Given the description of an element on the screen output the (x, y) to click on. 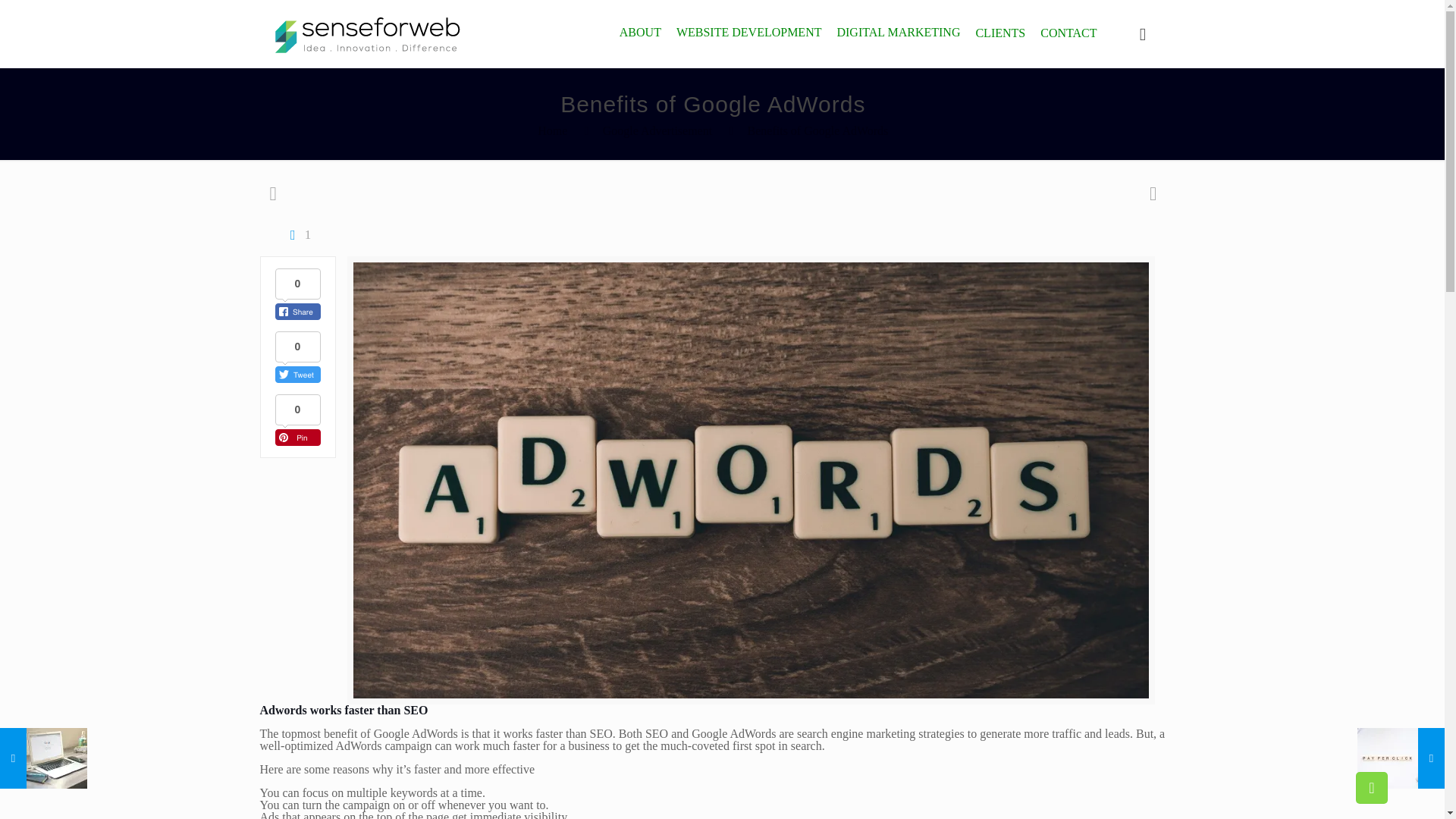
1 (297, 234)
YouTube (722, 797)
ABOUT (639, 32)
CLIENTS (1000, 32)
WEBSITE DEVELOPMENT (748, 32)
Twitter (702, 797)
Facebook (682, 797)
Google Advertisement (656, 130)
LinkedIn (743, 797)
Home (552, 130)
DIGITAL MARKETING (898, 32)
CONTACT (1067, 32)
